Given the description of an element on the screen output the (x, y) to click on. 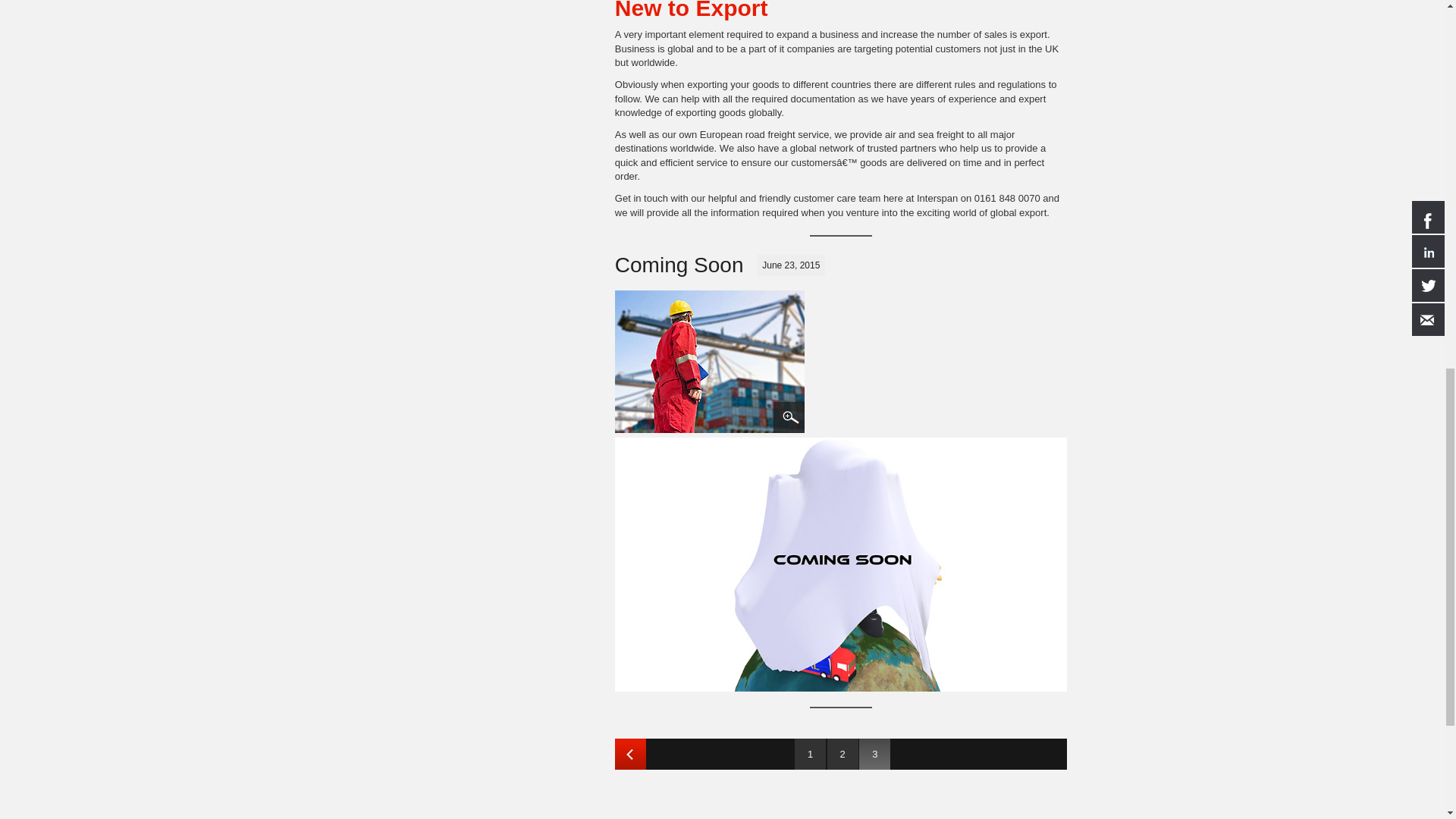
1 (809, 753)
2 (843, 753)
Coming Soon (715, 363)
